Given the description of an element on the screen output the (x, y) to click on. 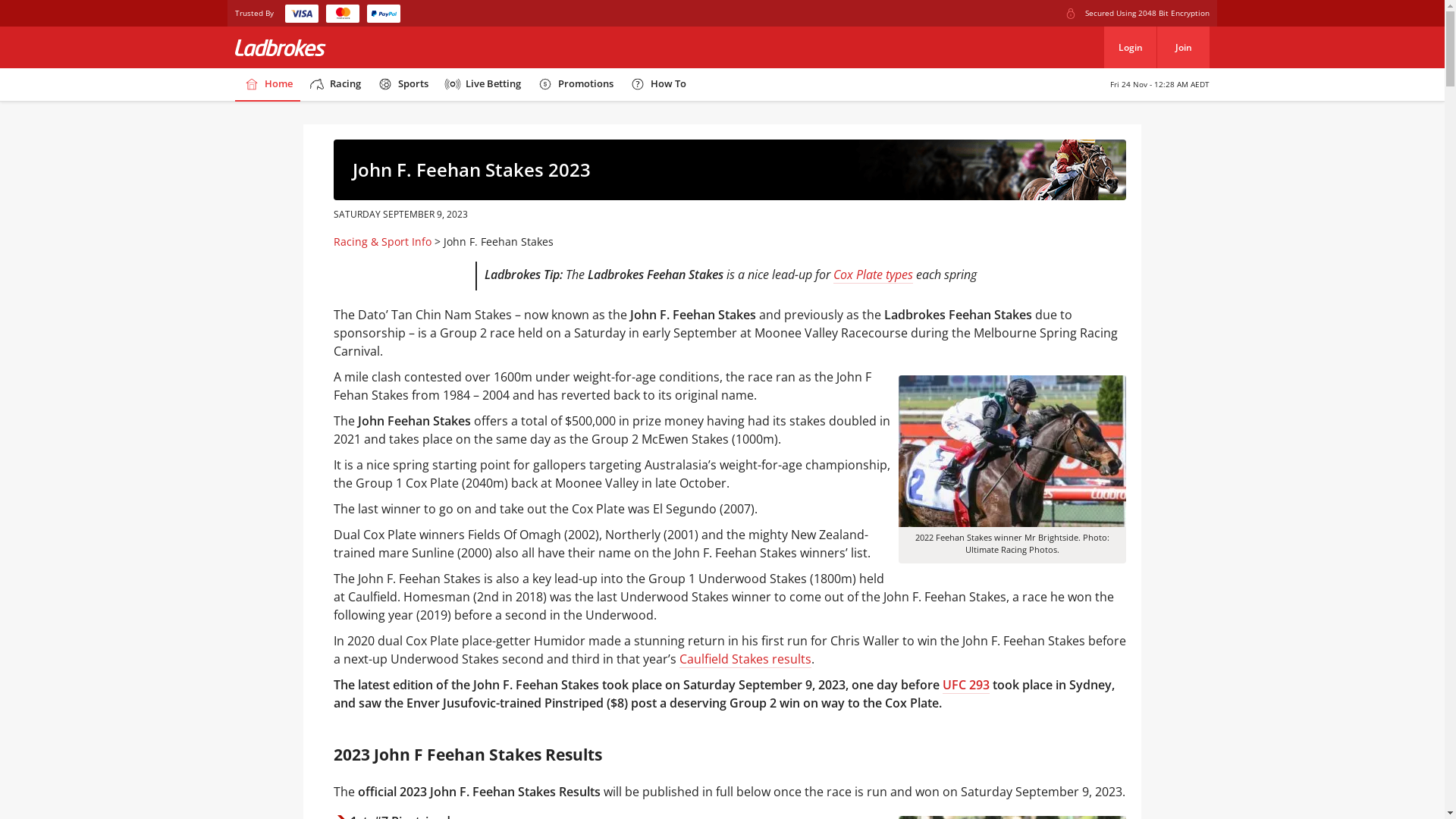
Sports Element type: text (402, 84)
Racing & Sport Info Element type: text (382, 241)
Live Betting Element type: text (482, 84)
How To Element type: text (657, 84)
UFC 293 Element type: text (965, 684)
Home Element type: text (267, 84)
Login Element type: text (1129, 47)
Caulfield Stakes results Element type: text (745, 659)
Promotions Element type: text (574, 84)
Racing Element type: text (334, 84)
Join Element type: text (1182, 47)
Cox Plate types Element type: text (873, 274)
